Given the description of an element on the screen output the (x, y) to click on. 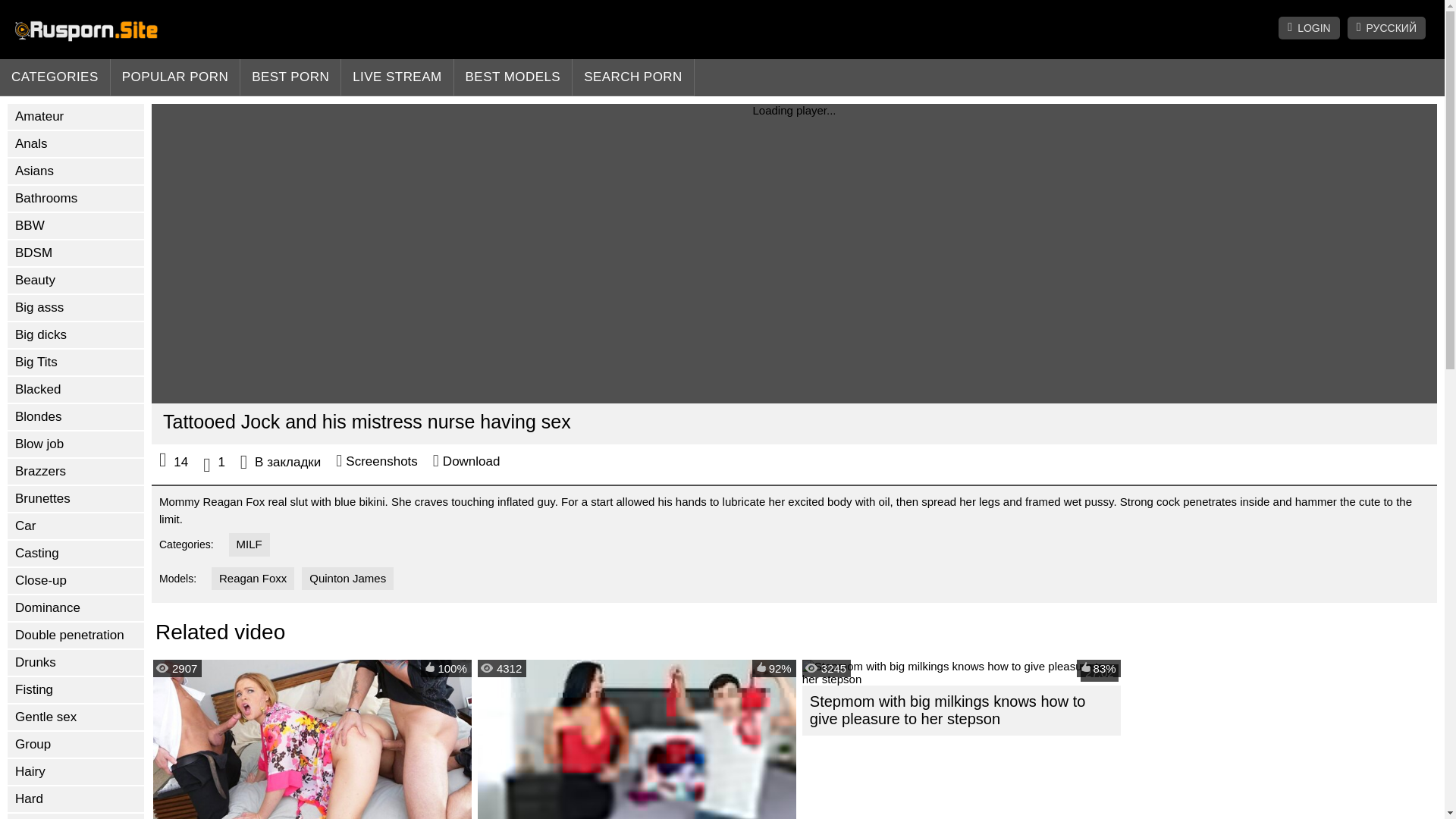
Hairy (75, 771)
Blacked (75, 389)
Fisting (75, 689)
Asians (75, 171)
POPULAR PORN (175, 77)
Russian porno (86, 30)
Big dicks (75, 335)
Group (75, 744)
Casting (75, 553)
LIVE STREAM (396, 77)
Dominance (75, 607)
Gentle sex (75, 717)
BEST PORN (290, 77)
CATEGORIES (55, 77)
Blow job (75, 444)
